Given the description of an element on the screen output the (x, y) to click on. 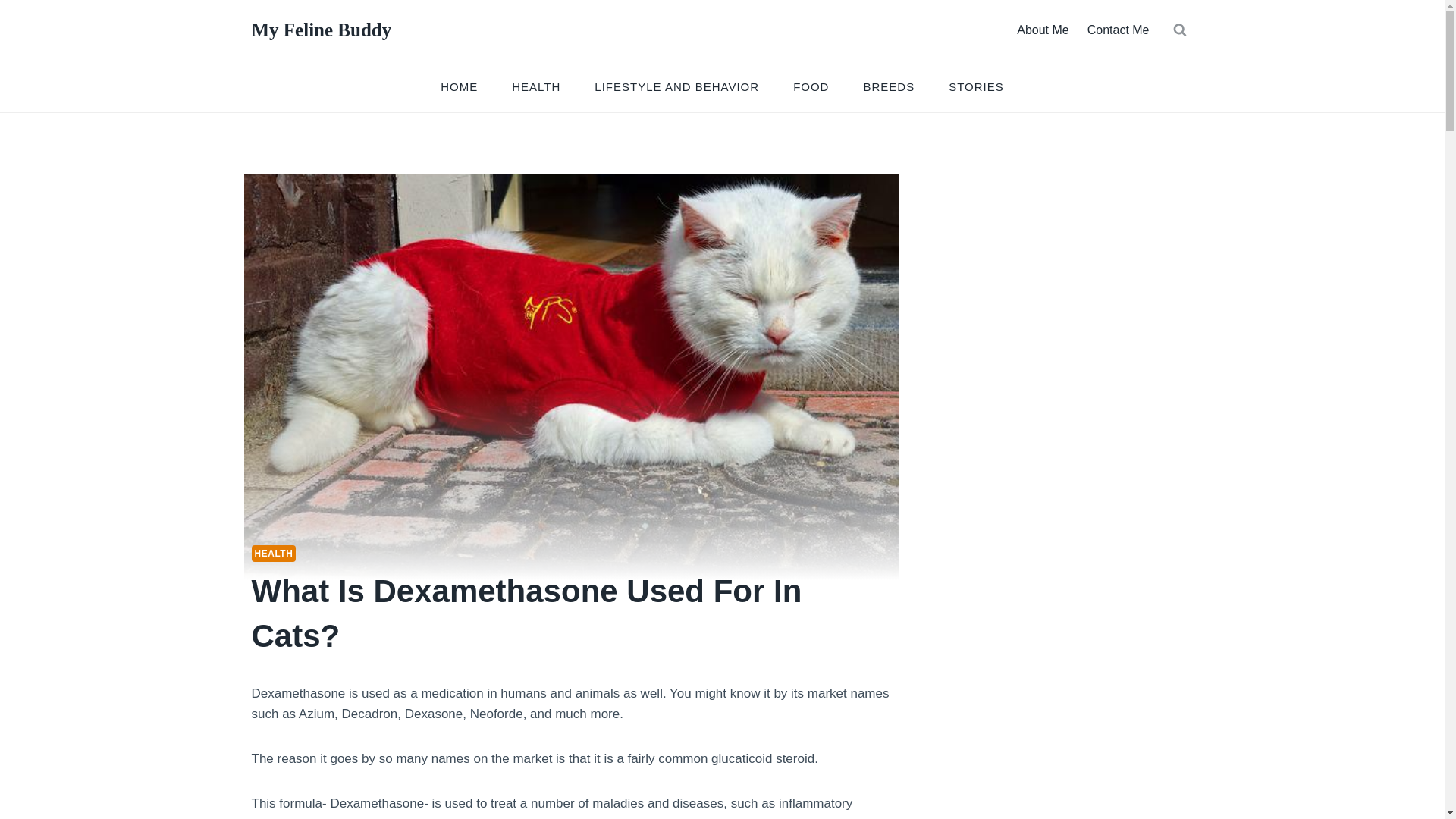
Contact Me (1118, 30)
LIFESTYLE AND BEHAVIOR (677, 86)
FOOD (810, 86)
HEALTH (536, 86)
HEALTH (274, 553)
BREEDS (888, 86)
About Me (1042, 30)
HOME (459, 86)
My Feline Buddy (321, 30)
STORIES (976, 86)
